Given the description of an element on the screen output the (x, y) to click on. 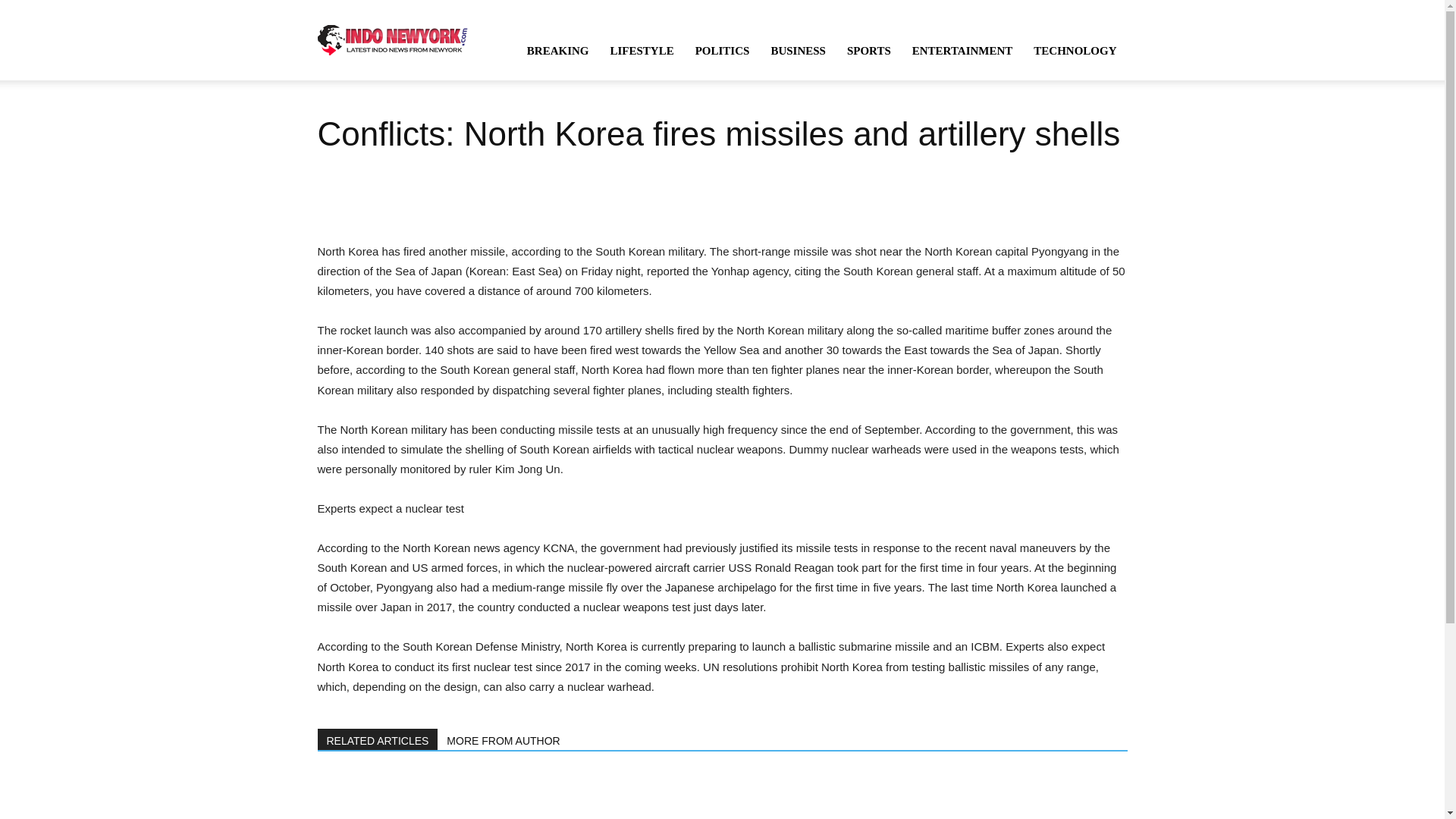
Russian Invasion: War in Ukraine: This is the situation (721, 795)
MORE FROM AUTHOR (503, 739)
RELATED ARTICLES (377, 739)
ENTERTAINMENT (962, 50)
SPORTS (868, 50)
Indo Newyork (392, 39)
LIFESTYLE (641, 50)
BREAKING (557, 50)
TECHNOLOGY (1074, 50)
Health: No agreement on global pandemic agreement (391, 795)
BUSINESS (797, 50)
POLITICS (722, 50)
